Given the description of an element on the screen output the (x, y) to click on. 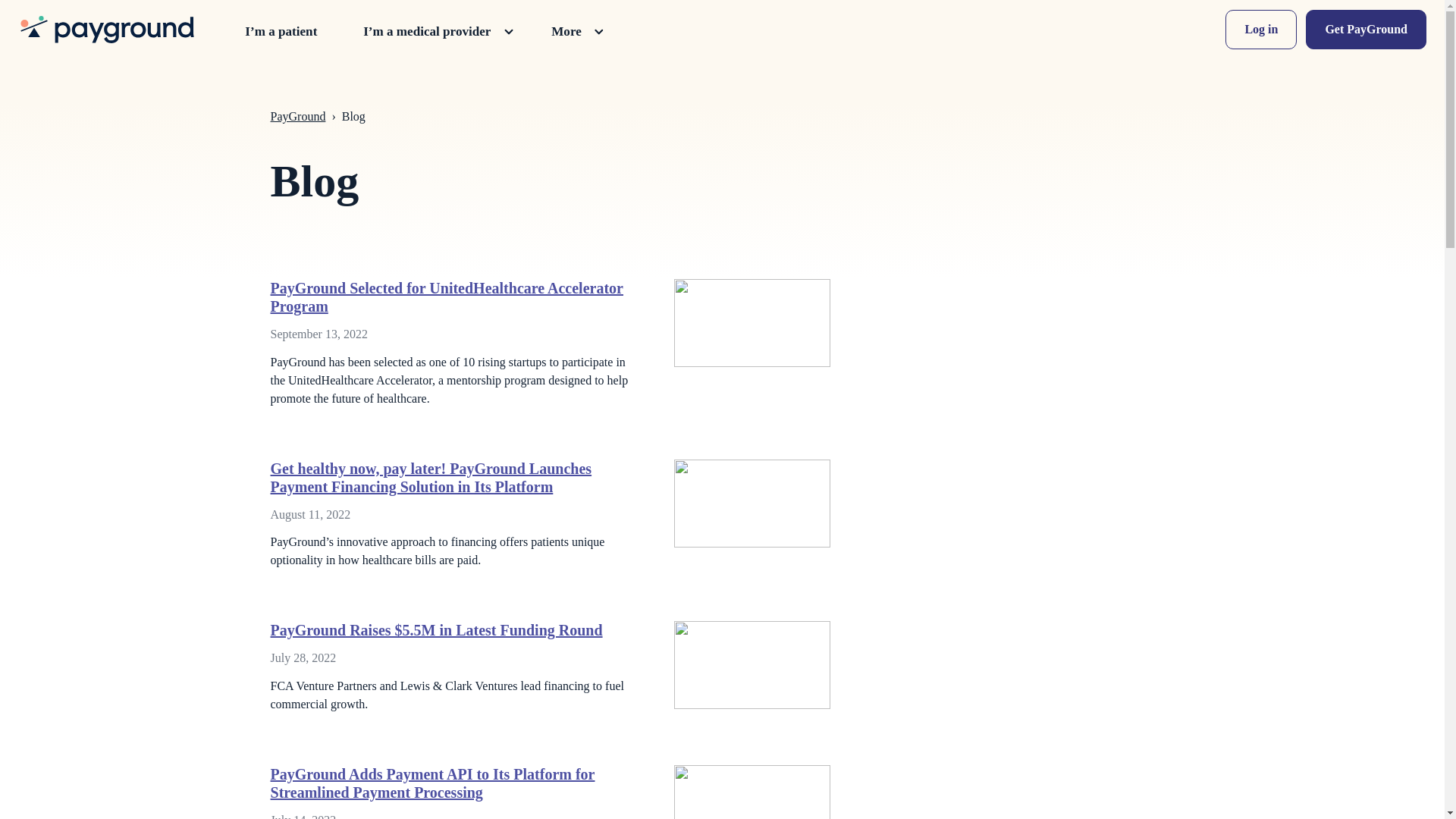
Log in (1261, 29)
Get PayGround (1366, 29)
PayGround Selected for UnitedHealthcare Accelerator Program (558, 369)
PayGround (296, 115)
PayGround (106, 29)
More (576, 31)
Go to PayGround. (296, 115)
